Given the description of an element on the screen output the (x, y) to click on. 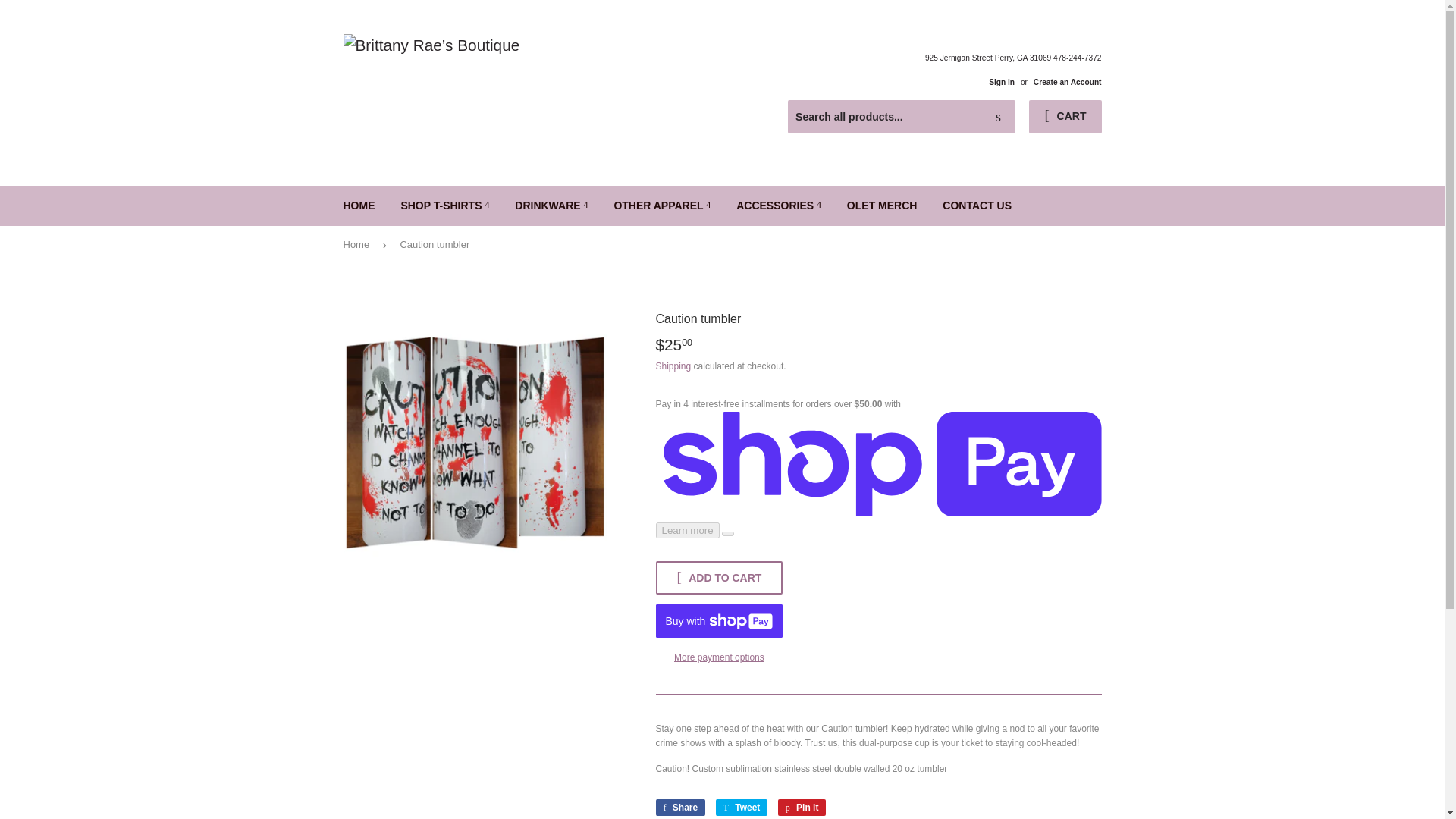
Create an Account (1067, 81)
Tweet on Twitter (742, 807)
Sign in (1001, 81)
Pin on Pinterest (802, 807)
Search (997, 117)
CART (1064, 116)
HOME (359, 205)
Share on Facebook (679, 807)
SHOP T-SHIRTS (444, 205)
